Given the description of an element on the screen output the (x, y) to click on. 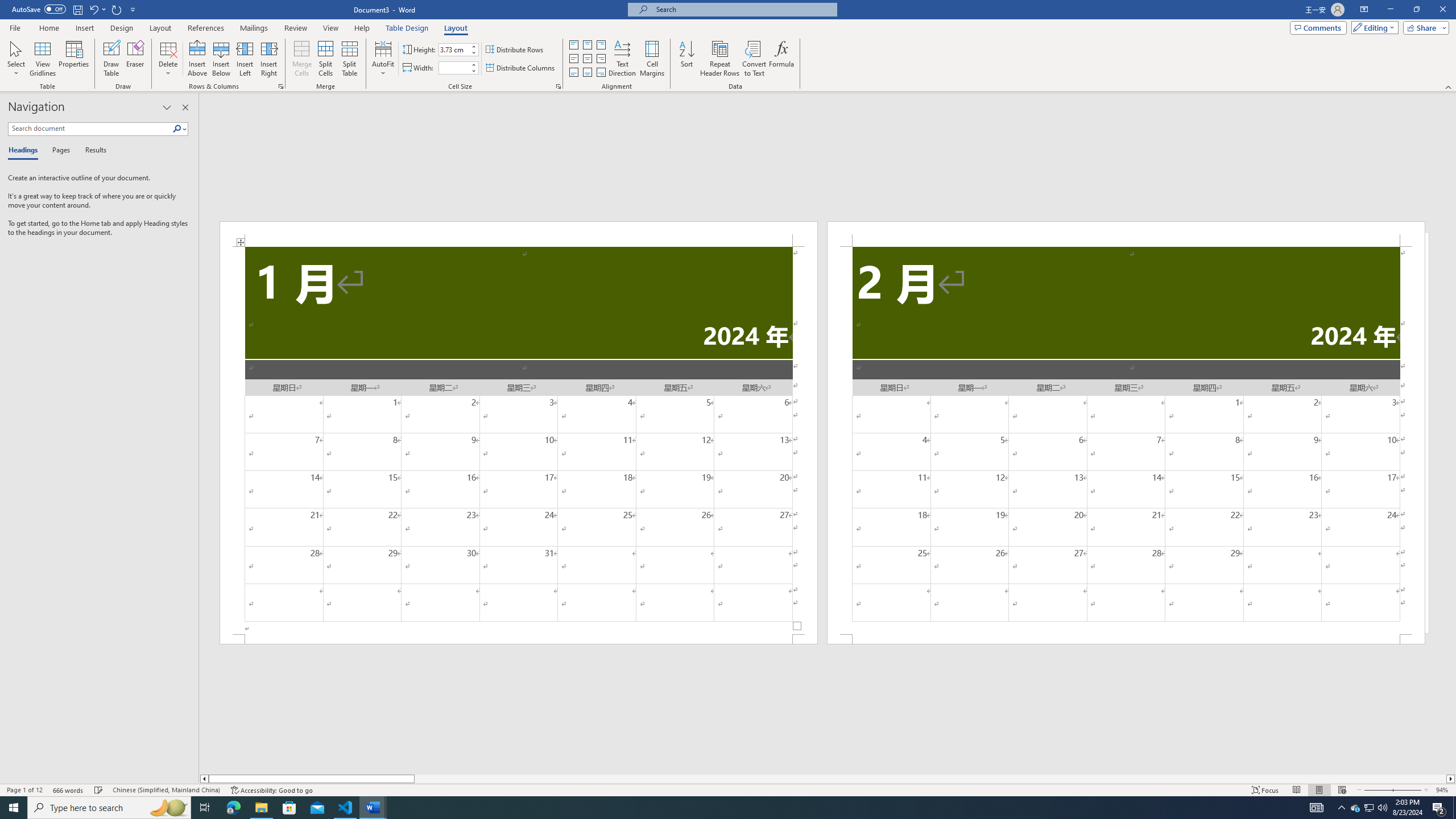
Text Direction (622, 58)
Align Center (587, 58)
Page Number Page 1 of 12 (24, 790)
Page 2 content (1126, 439)
